Given the description of an element on the screen output the (x, y) to click on. 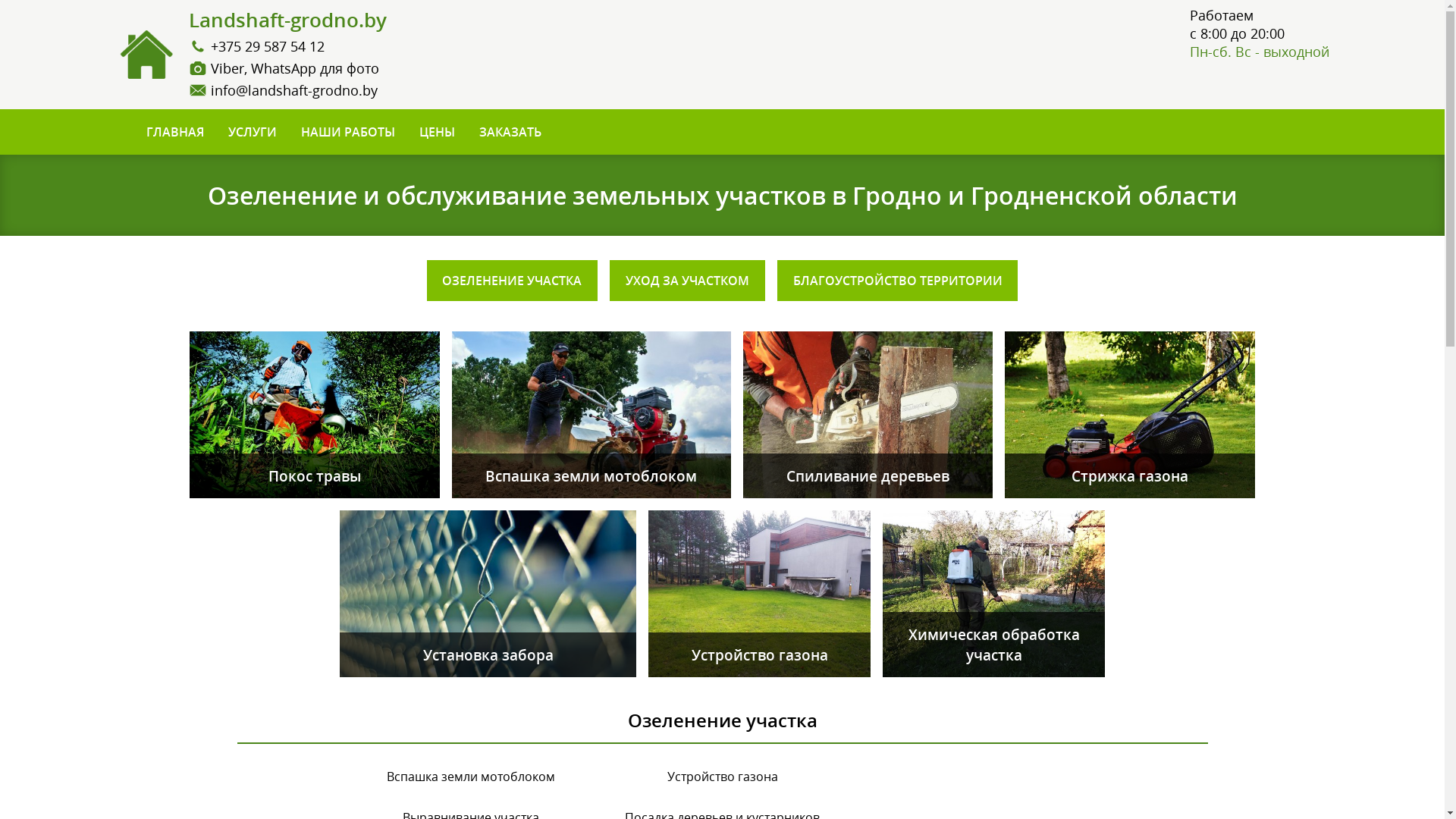
Landshaft-grodno.by Element type: text (286, 21)
info@landshaft-grodno.by Element type: text (293, 90)
